Given the description of an element on the screen output the (x, y) to click on. 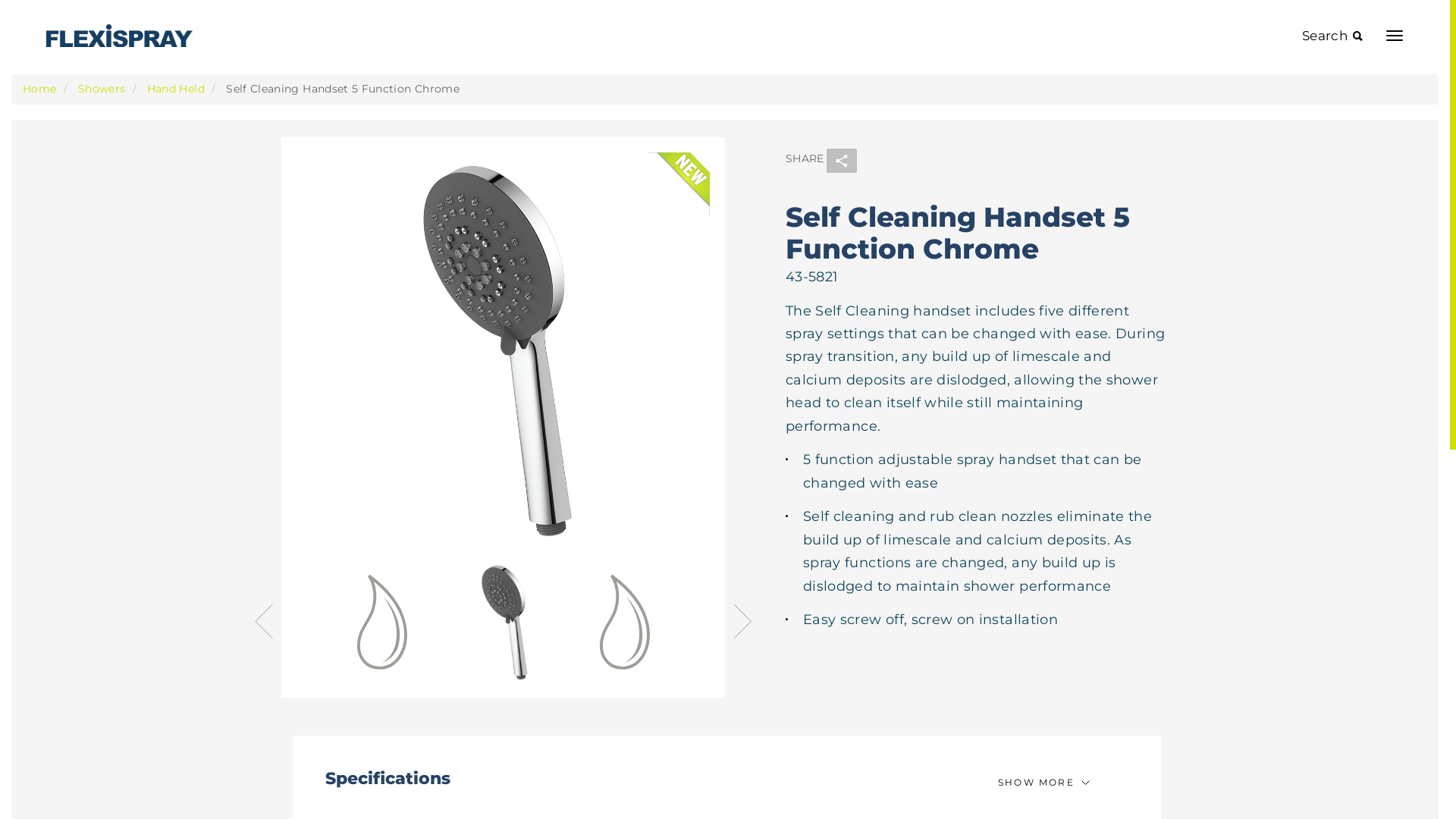
Back Element type: text (263, 621)
Next Element type: text (742, 621)
Home Element type: hover (126, 35)
Home Element type: text (39, 88)
Hand Held Element type: text (175, 88)
Showers Element type: text (101, 88)
SHOW MORE Element type: hover (1043, 782)
Search Element type: text (1332, 35)
Skip to main content Element type: text (0, 0)
